Given the description of an element on the screen output the (x, y) to click on. 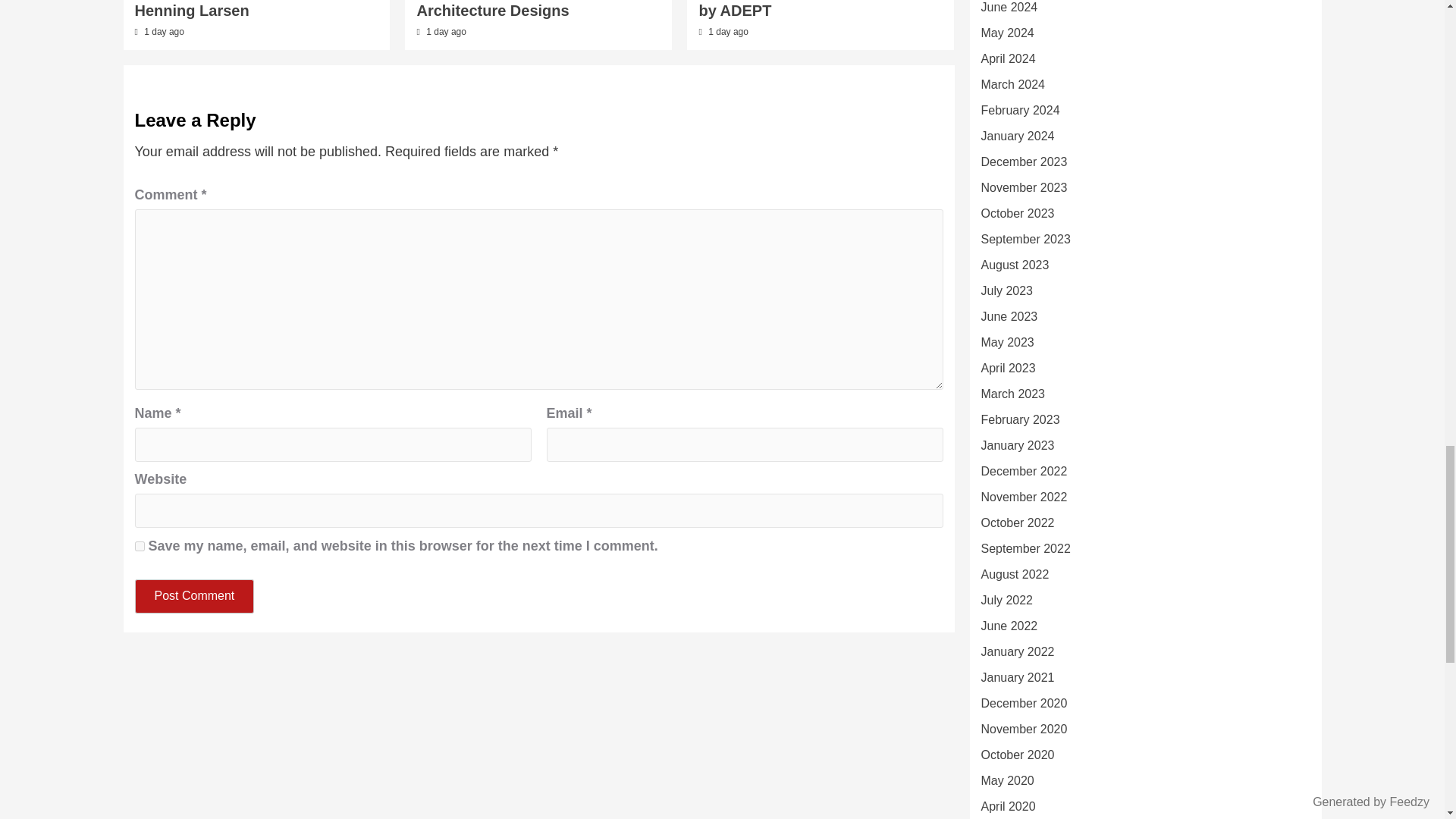
yes (139, 546)
Post Comment (194, 596)
1 day ago (445, 31)
1 day ago (727, 31)
1 day ago (164, 31)
